Given the description of an element on the screen output the (x, y) to click on. 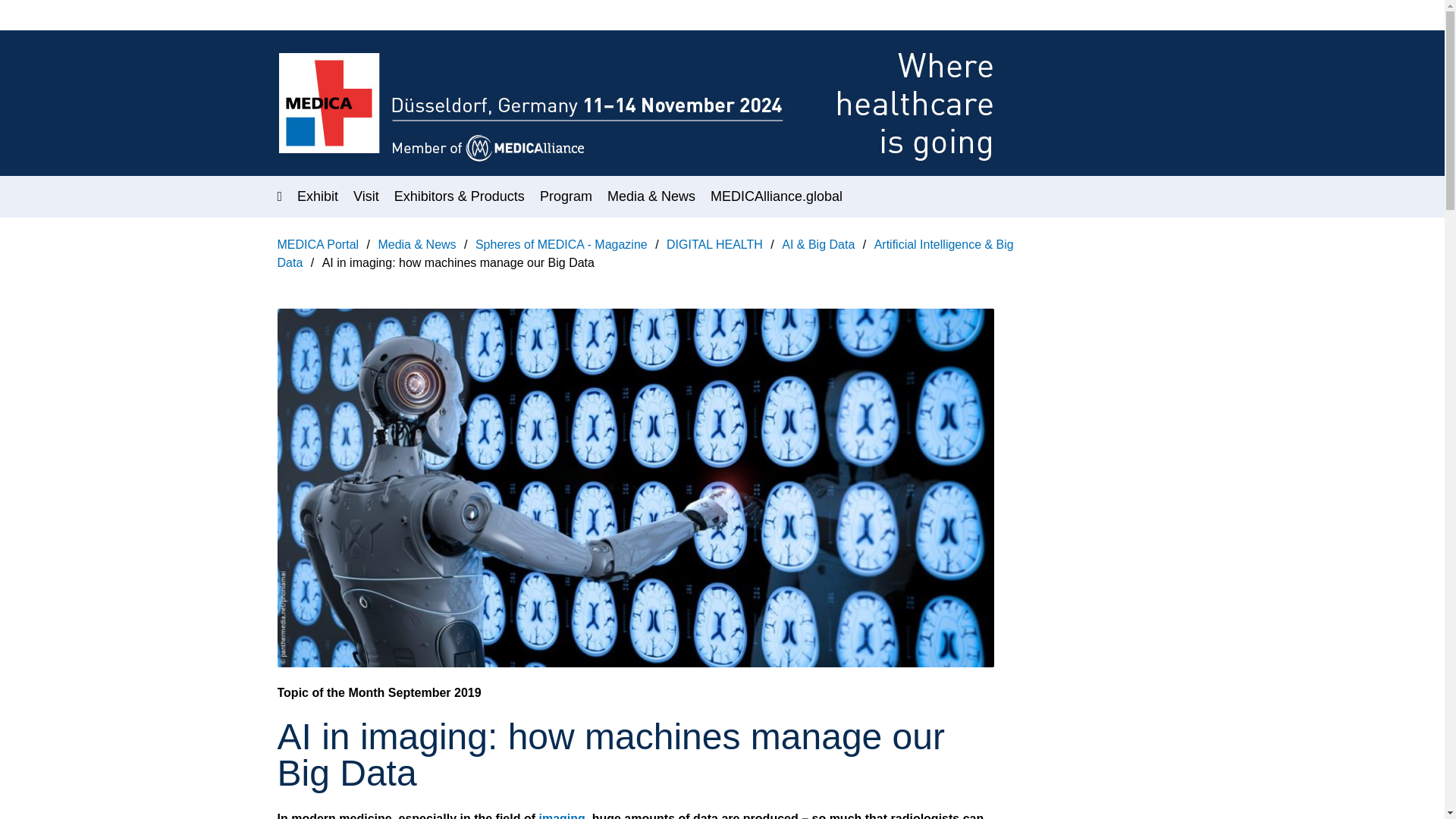
Exhibit (317, 196)
Visit (365, 196)
Exhibit (317, 196)
